Given the description of an element on the screen output the (x, y) to click on. 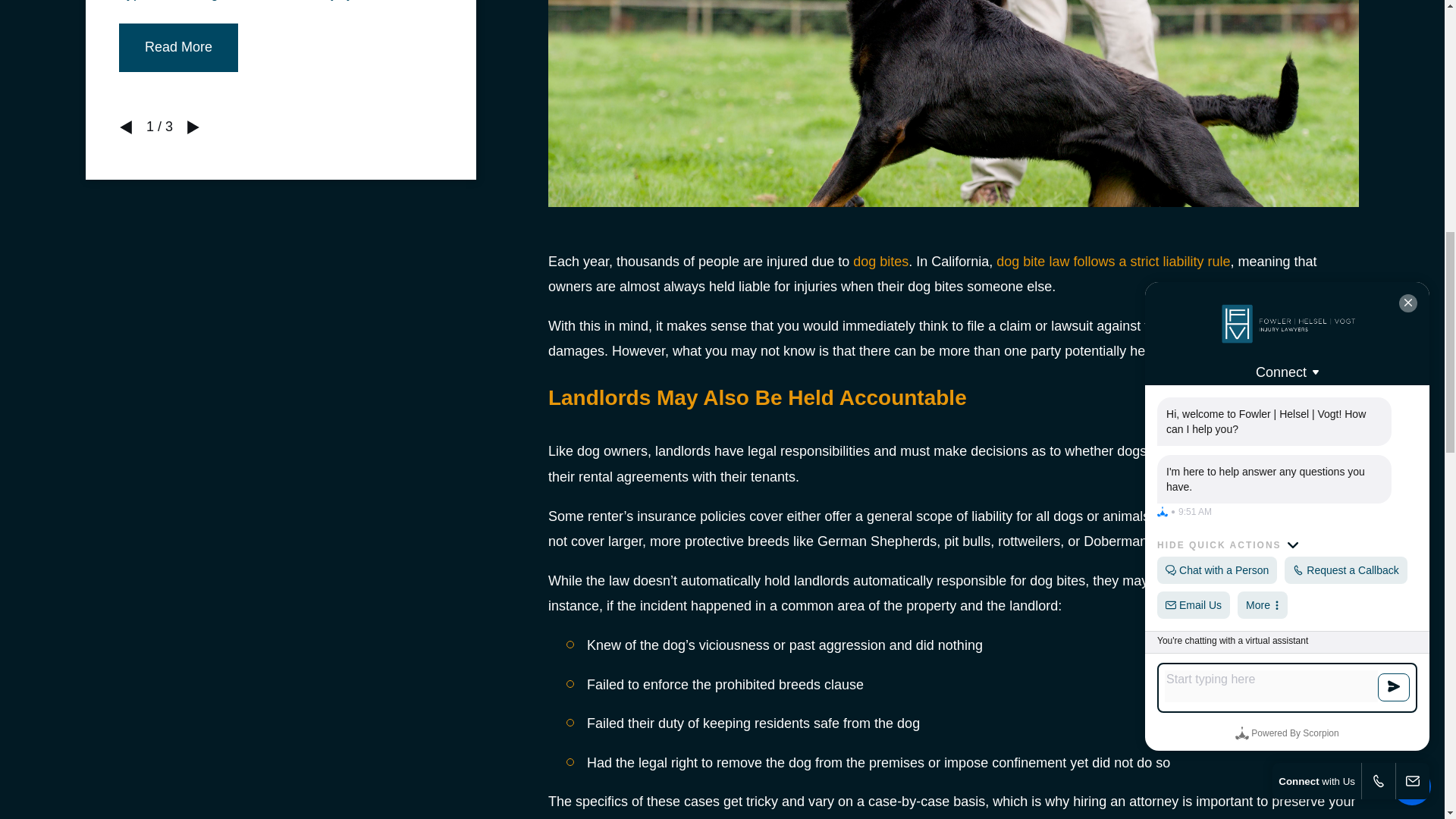
View next item (193, 127)
View previous item (125, 127)
